Given the description of an element on the screen output the (x, y) to click on. 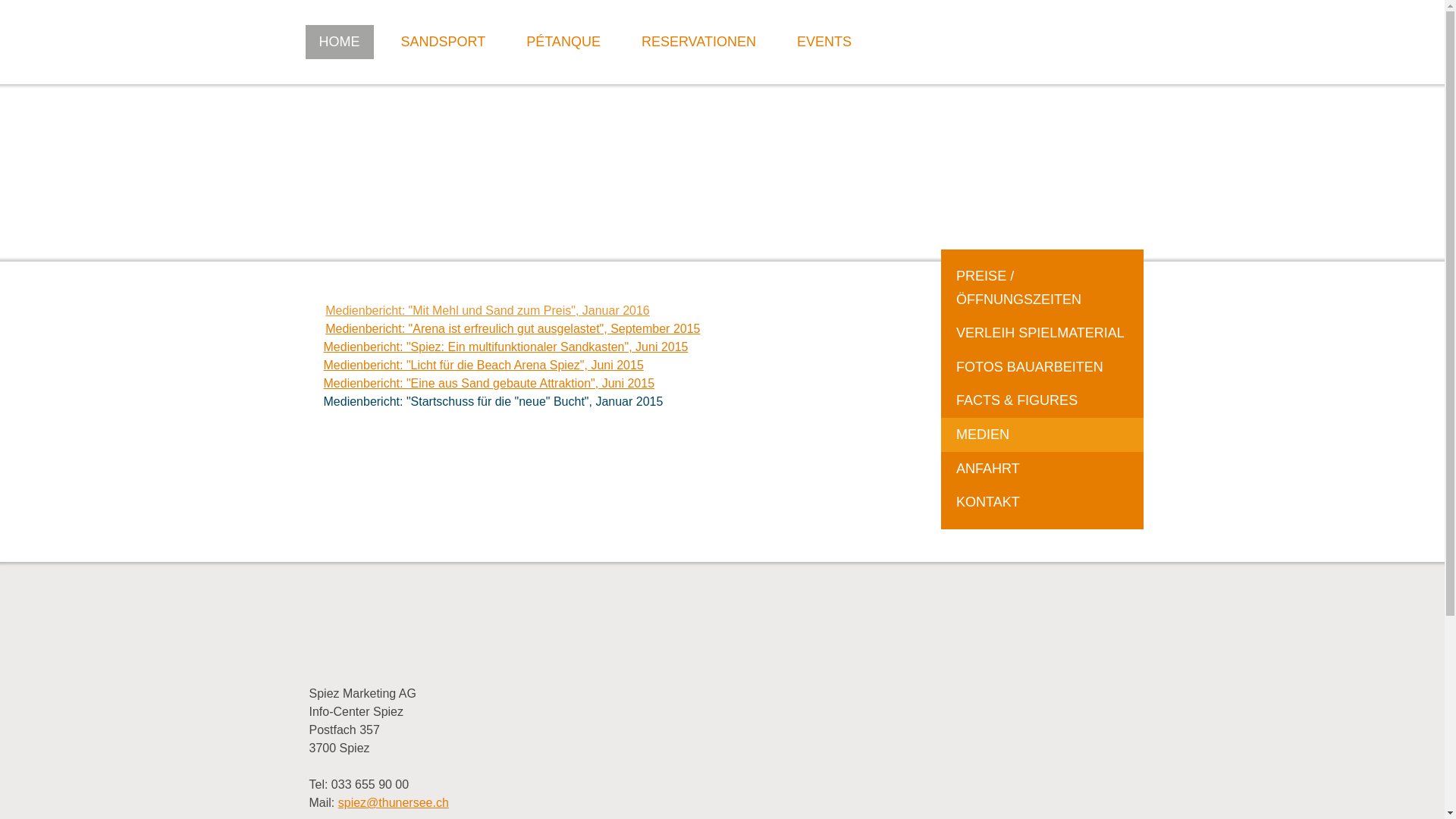
HOME Element type: text (338, 42)
FACTS & FIGURES Element type: text (1041, 400)
RESERVATIONEN Element type: text (698, 42)
spiez@thunersee.ch Element type: text (393, 802)
Medienbericht: "Mit Mehl und Sand zum Preis", Januar 2016 Element type: text (487, 310)
ANFAHRT Element type: text (1041, 468)
KONTAKT Element type: text (1041, 507)
EVENTS Element type: text (824, 42)
FOTOS BAUARBEITEN Element type: text (1041, 367)
SANDSPORT Element type: text (442, 42)
MEDIEN Element type: text (1041, 434)
Medienbericht: "Eine aus Sand gebaute Attraktion", Juni 2015 Element type: text (488, 382)
VERLEIH SPIELMATERIAL Element type: text (1041, 333)
